Given the description of an element on the screen output the (x, y) to click on. 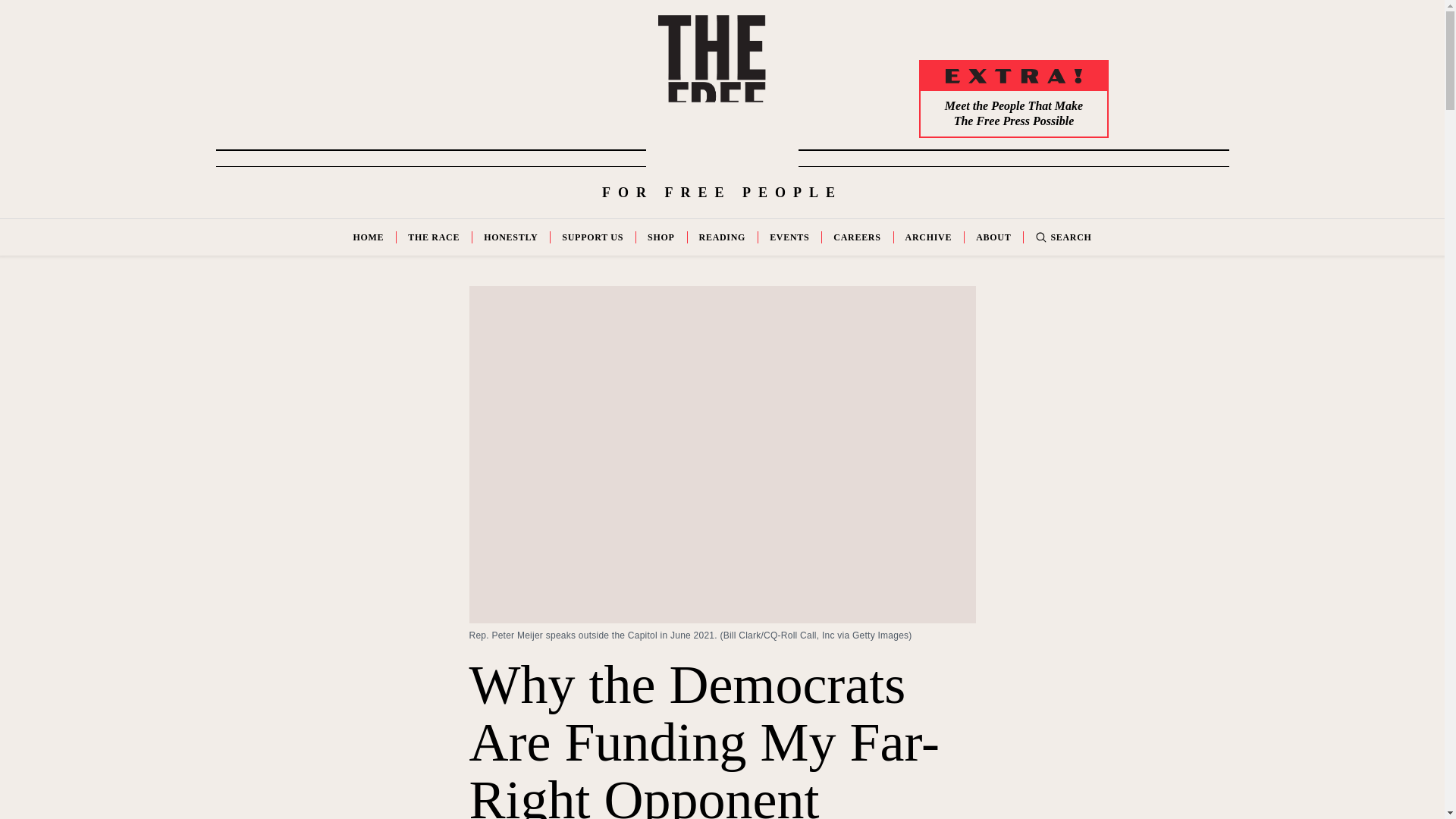
THE RACE (433, 236)
READING (721, 236)
ABOUT (992, 236)
SEARCH (1062, 236)
ARCHIVE (928, 236)
SUPPORT US (592, 236)
CAREERS (856, 236)
SHOP (660, 236)
HOME (368, 236)
Meet the People That Make The Free Press Possible (1013, 113)
